Given the description of an element on the screen output the (x, y) to click on. 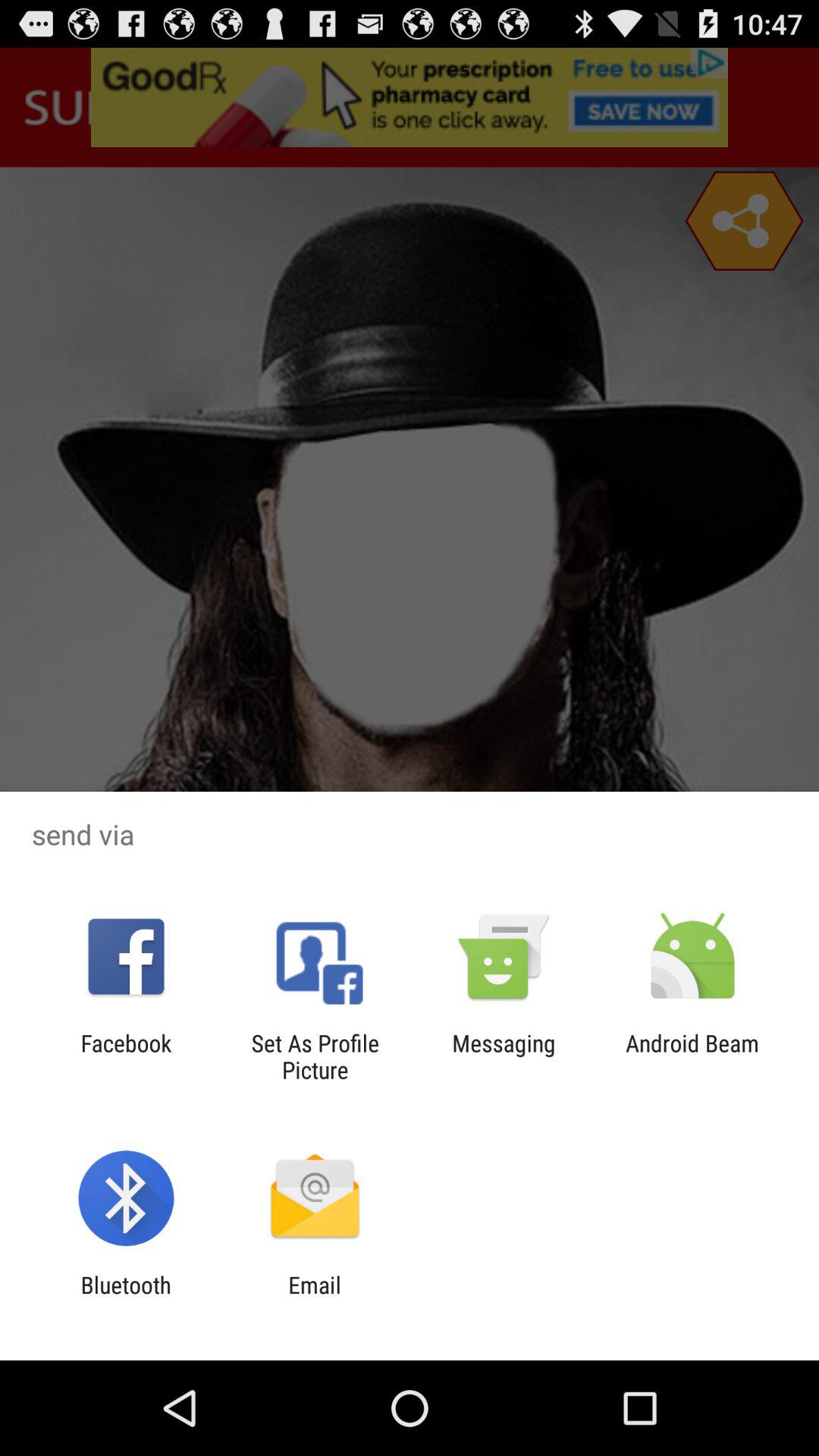
turn off the icon next to the messaging app (314, 1056)
